Given the description of an element on the screen output the (x, y) to click on. 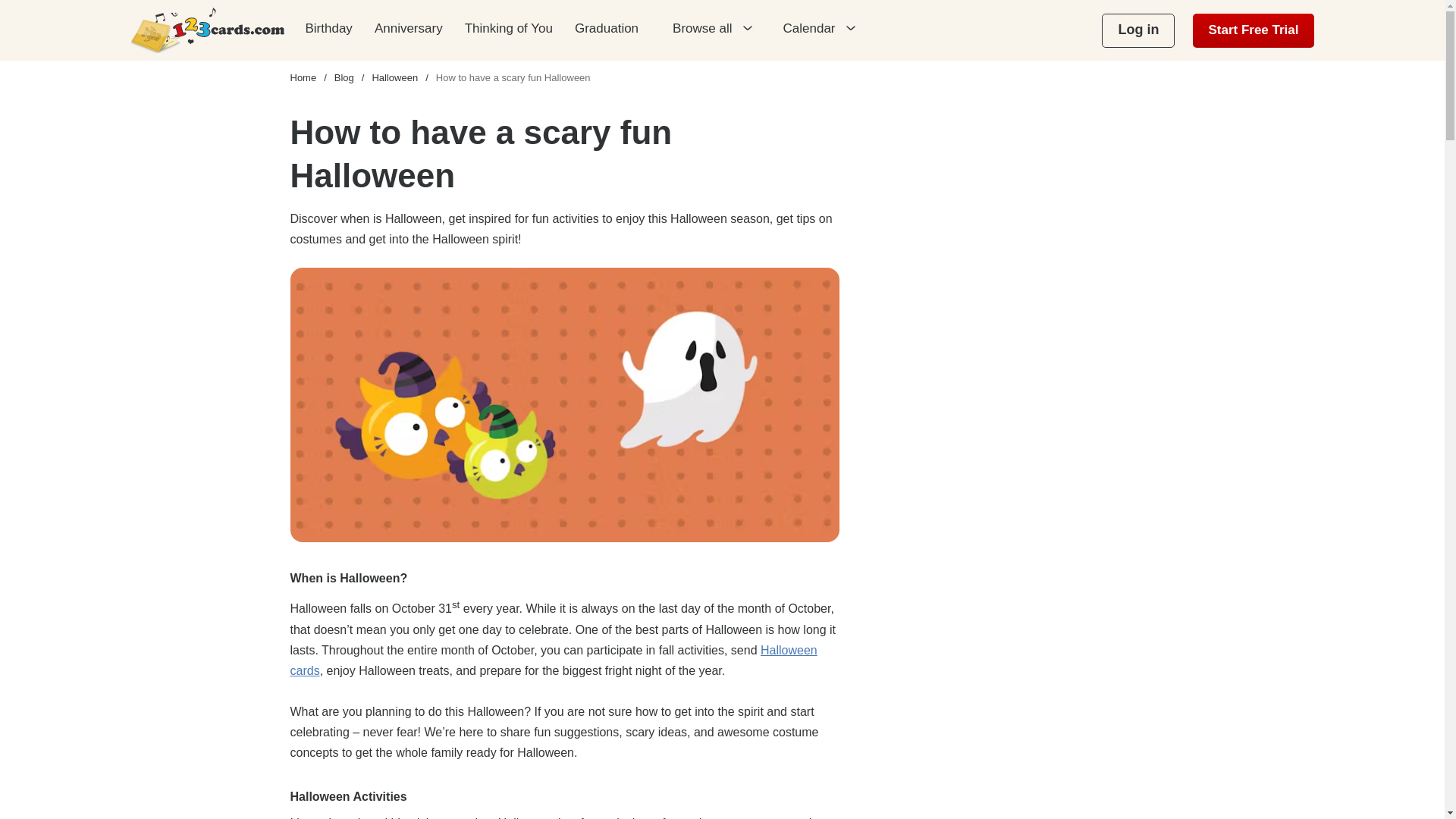
Graduation (607, 28)
Anniversary (408, 28)
Thinking of You (508, 28)
Birthday (328, 28)
Browse all (711, 32)
123cards.com (207, 30)
